Given the description of an element on the screen output the (x, y) to click on. 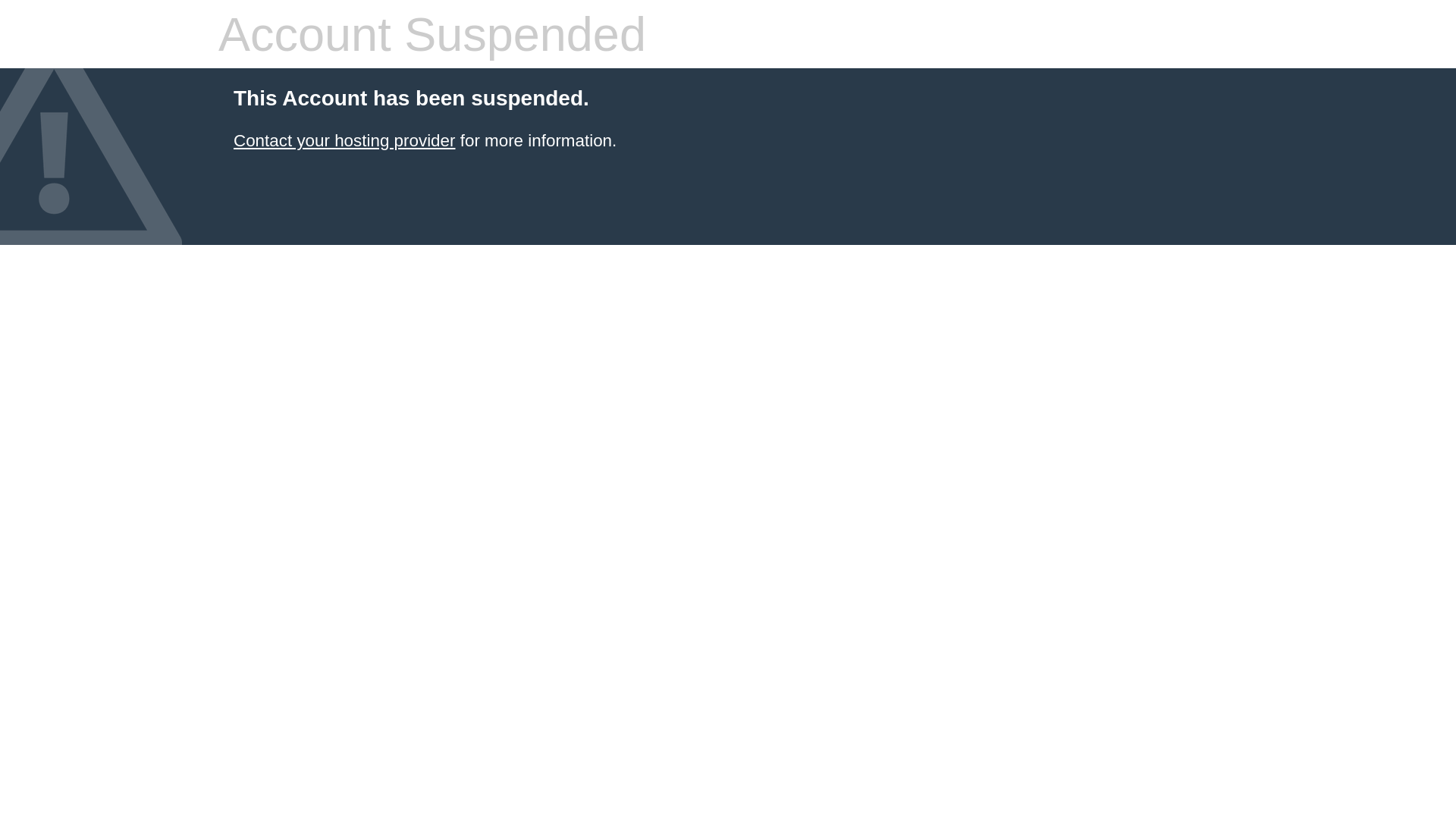
Contact your hosting provider Element type: text (344, 140)
